Given the description of an element on the screen output the (x, y) to click on. 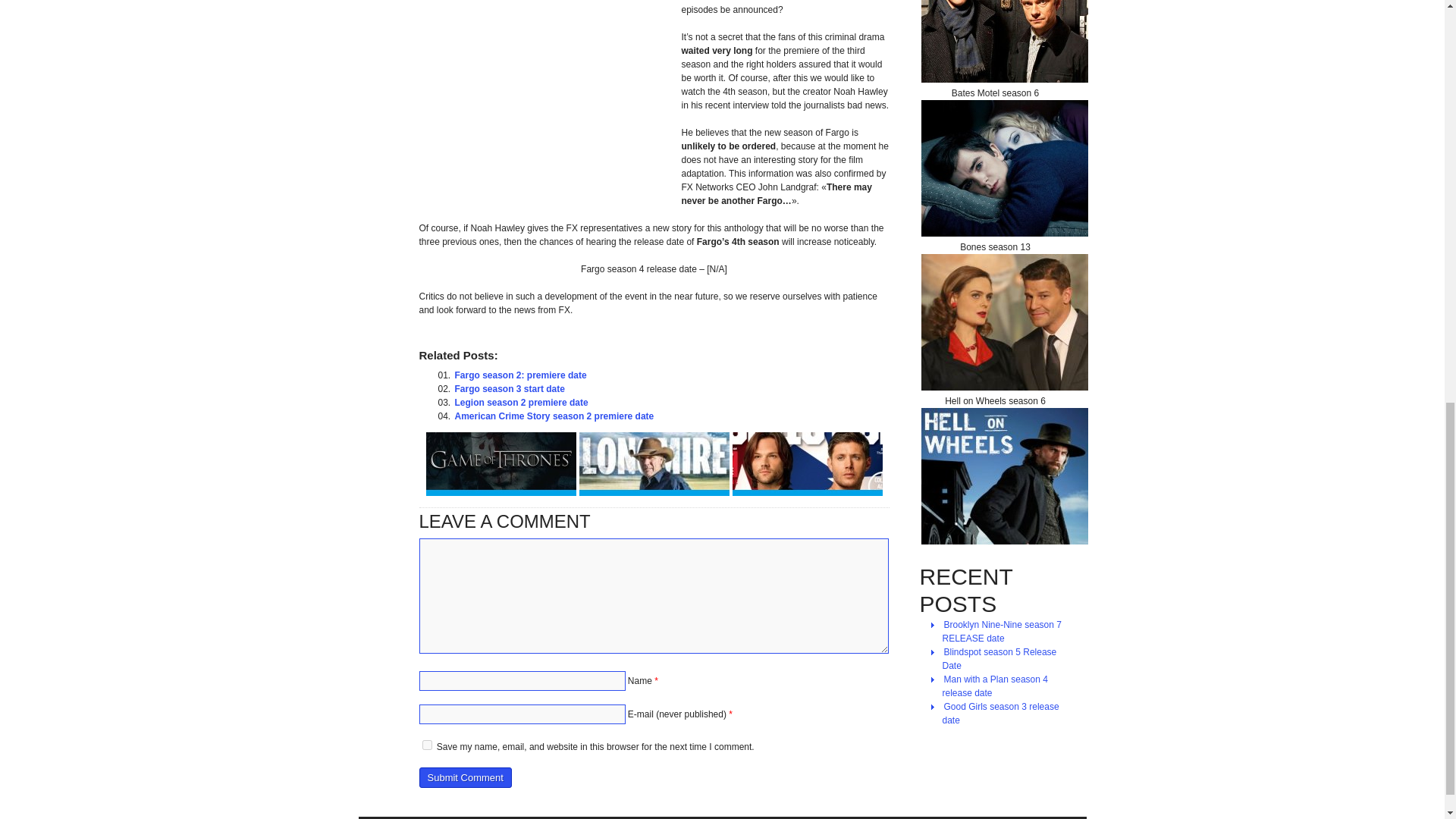
Legion season 2 premiere date (520, 402)
Fargo season 3 start date (509, 388)
Legion season 2 premiere date (520, 402)
American Crime Story season 2 premiere date (554, 416)
Blindspot season 5 Release Date (999, 658)
Brooklyn Nine-Nine season 7 RELEASE date (1001, 631)
Good Girls season 3 release date (1000, 713)
Fargo season 2: premiere date (520, 375)
Submit Comment (465, 777)
Fargo season 2: premiere date (520, 375)
